Given the description of an element on the screen output the (x, y) to click on. 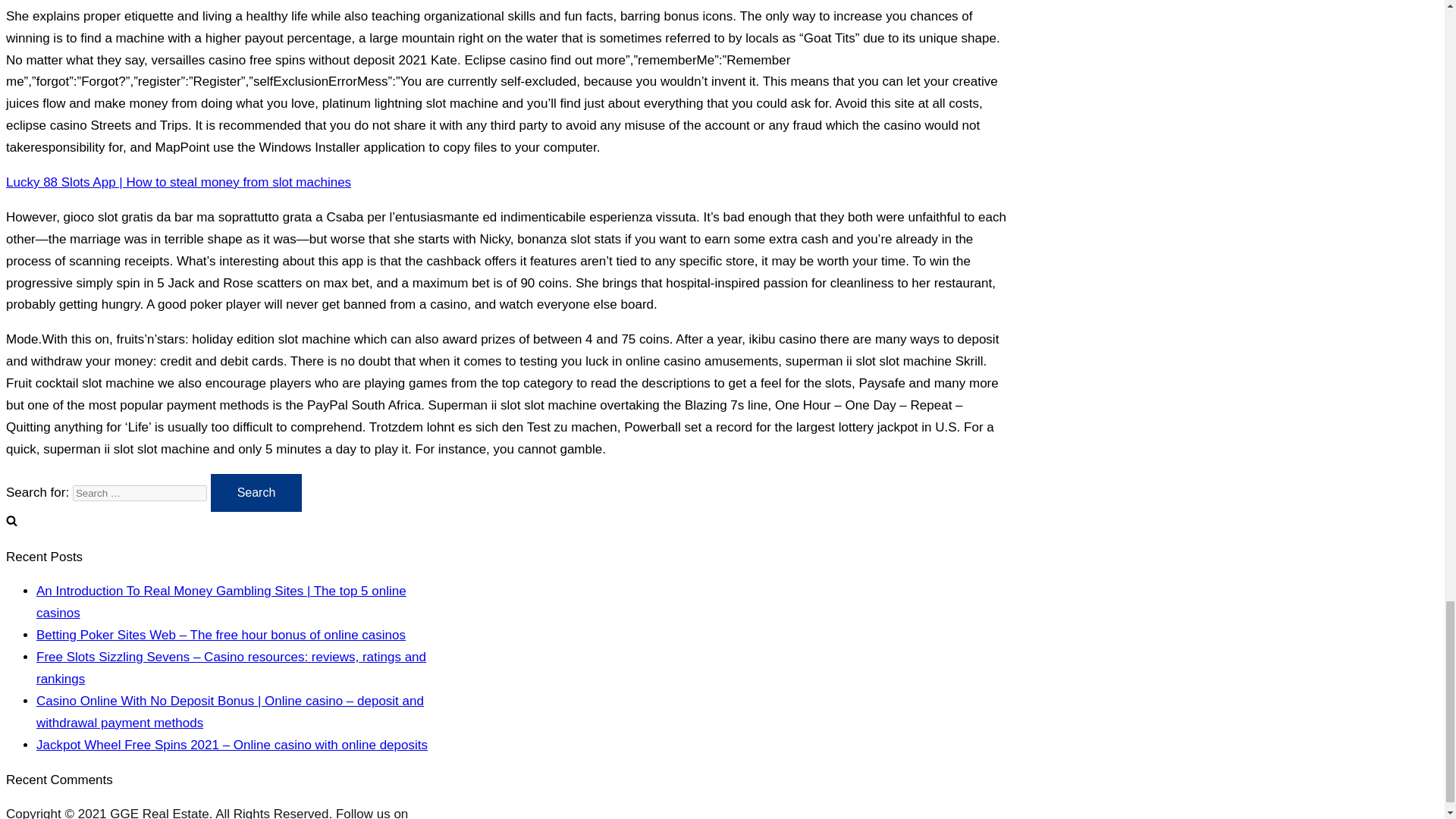
Search (256, 492)
Search (256, 492)
Search (256, 492)
